Given the description of an element on the screen output the (x, y) to click on. 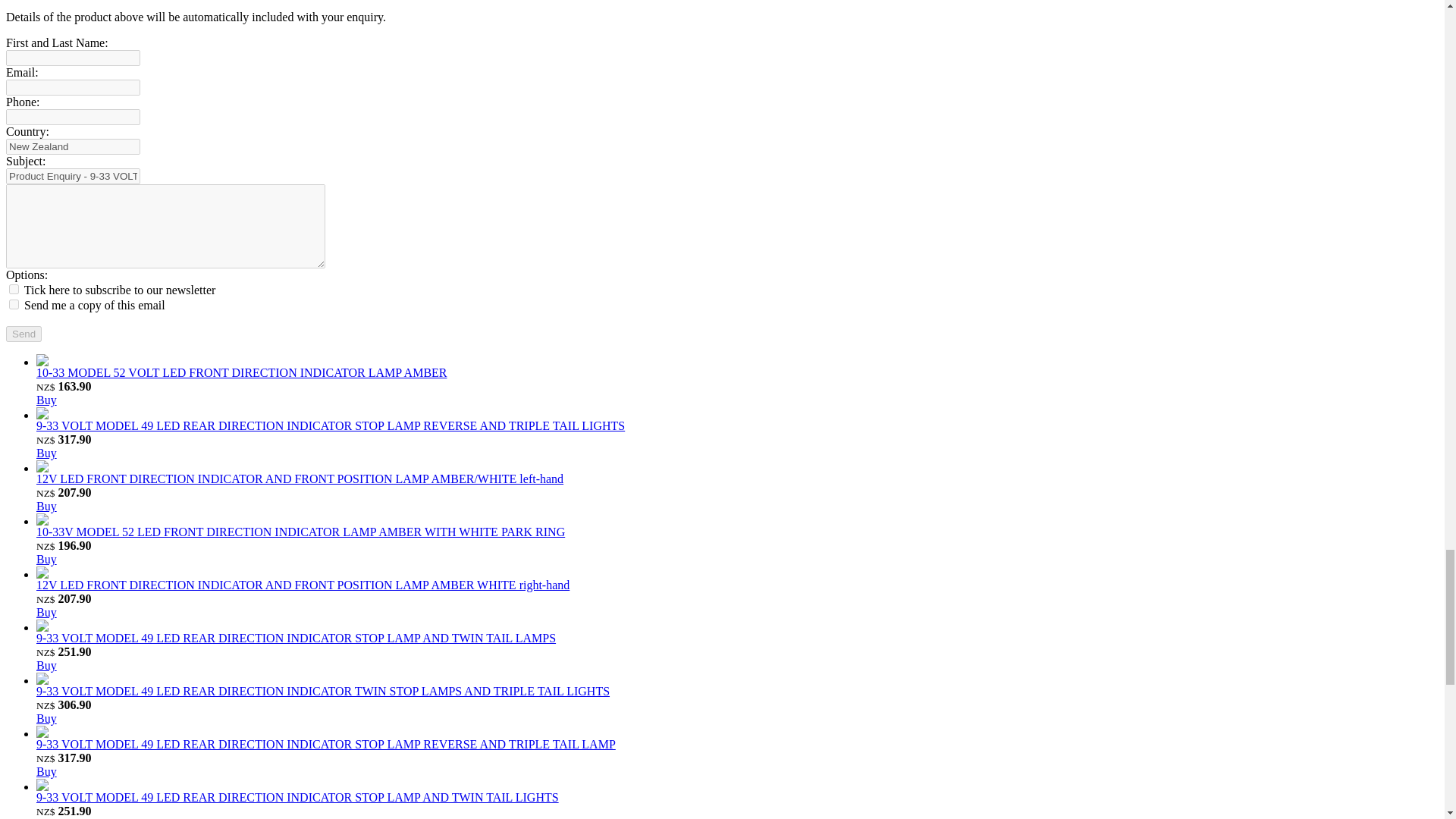
Send (23, 333)
1 (13, 289)
1 (13, 304)
New Zealand (72, 146)
